Given the description of an element on the screen output the (x, y) to click on. 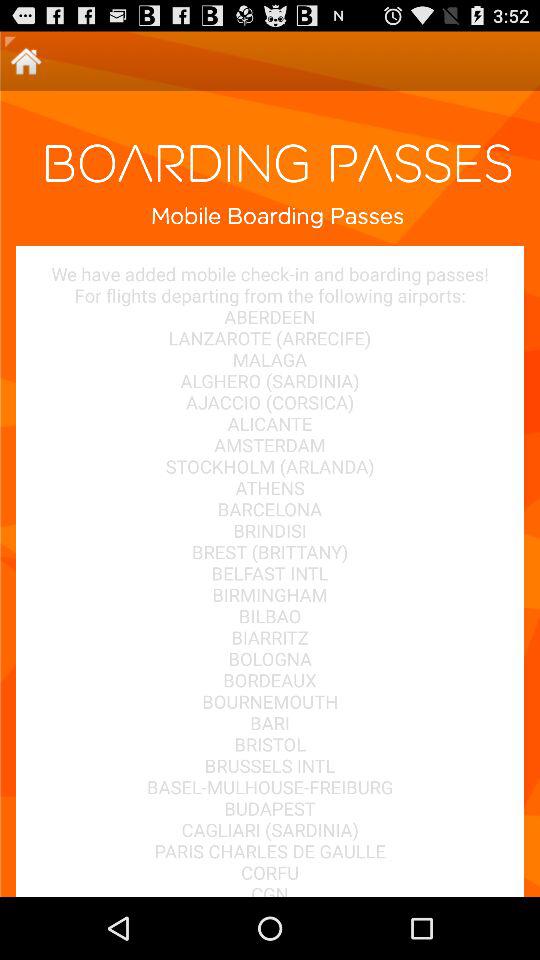
home button (26, 60)
